Given the description of an element on the screen output the (x, y) to click on. 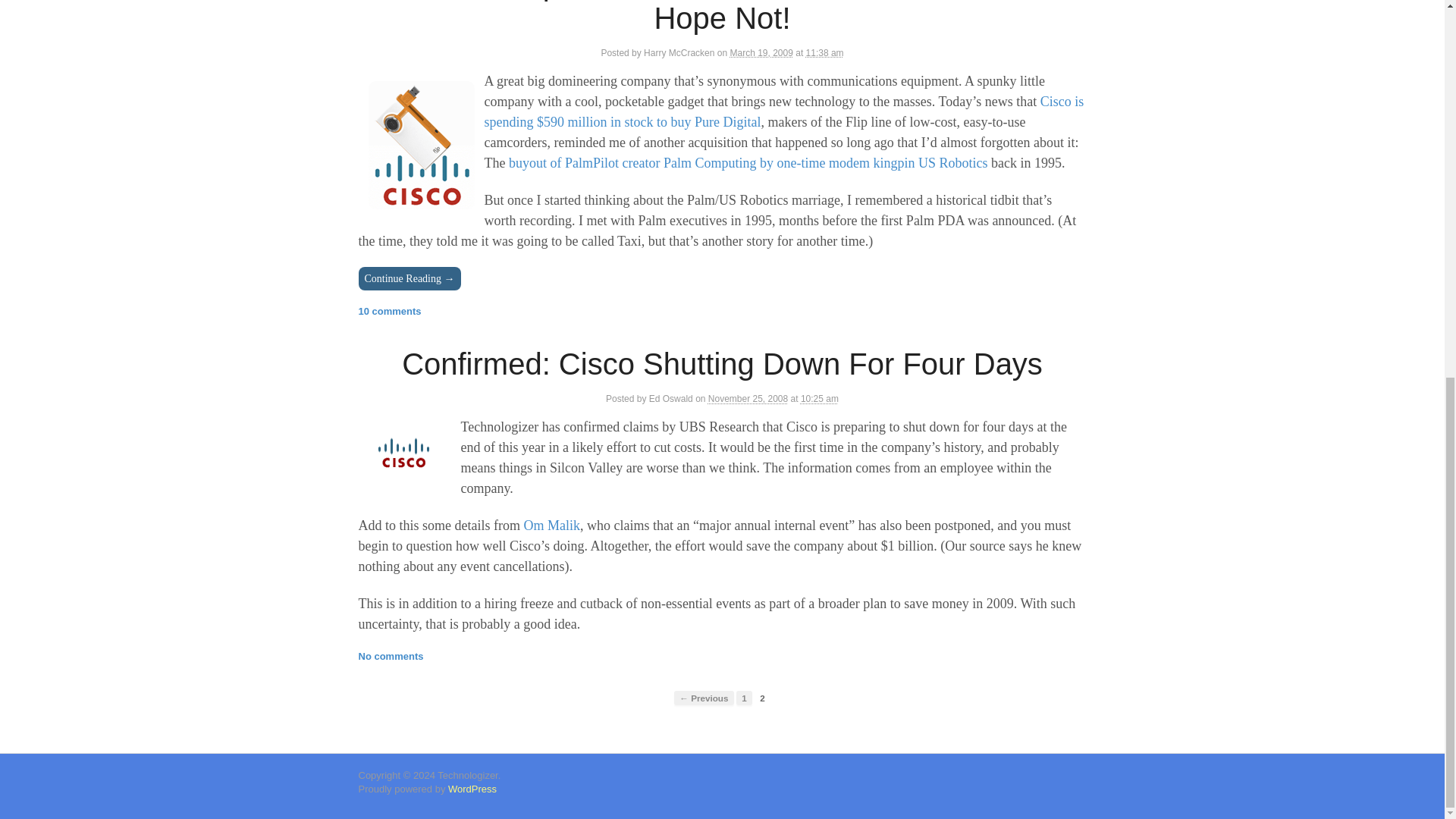
WordPress (472, 788)
No comments (390, 655)
10 comments (389, 310)
Confirmed: Cisco Shutting Down For Four Days (721, 363)
2009-03-19T11:38:16-0700 (825, 52)
1 (744, 698)
Om Malik (550, 525)
Confirmed: Cisco Shutting Down For Four Days (721, 363)
Cisco logo (403, 452)
2008-11-25T10:25:44-0800 (819, 398)
2008-11-25T10:25:44-0800 (747, 398)
2009-03-19T11:38:16-0700 (760, 52)
